Given the description of an element on the screen output the (x, y) to click on. 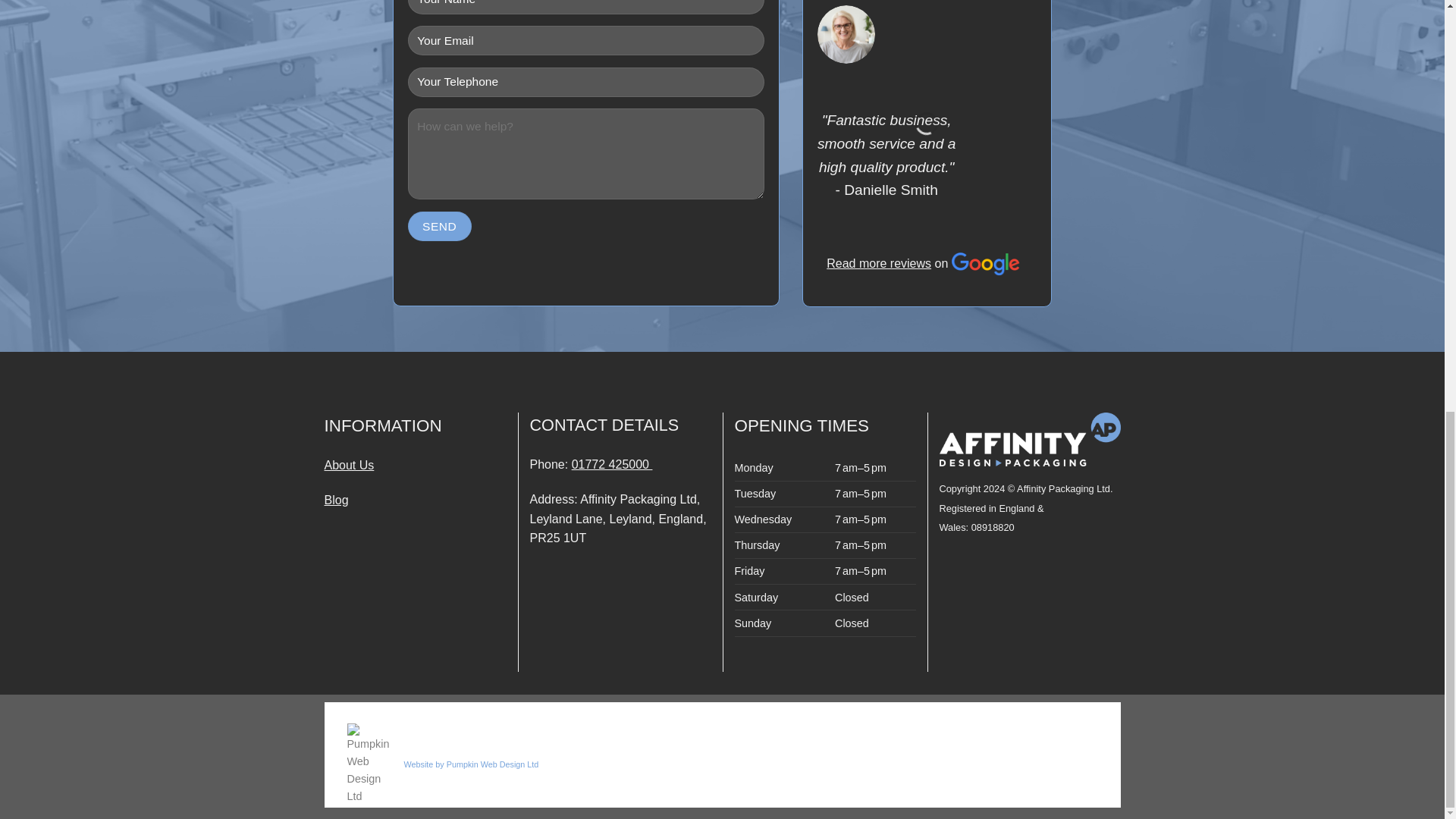
About Us (349, 464)
01772 425000  (612, 463)
Blog (336, 499)
Send (439, 225)
Website by Pumpkin Web Design Ltd (470, 764)
Send (439, 225)
Read more reviews (879, 74)
